Given the description of an element on the screen output the (x, y) to click on. 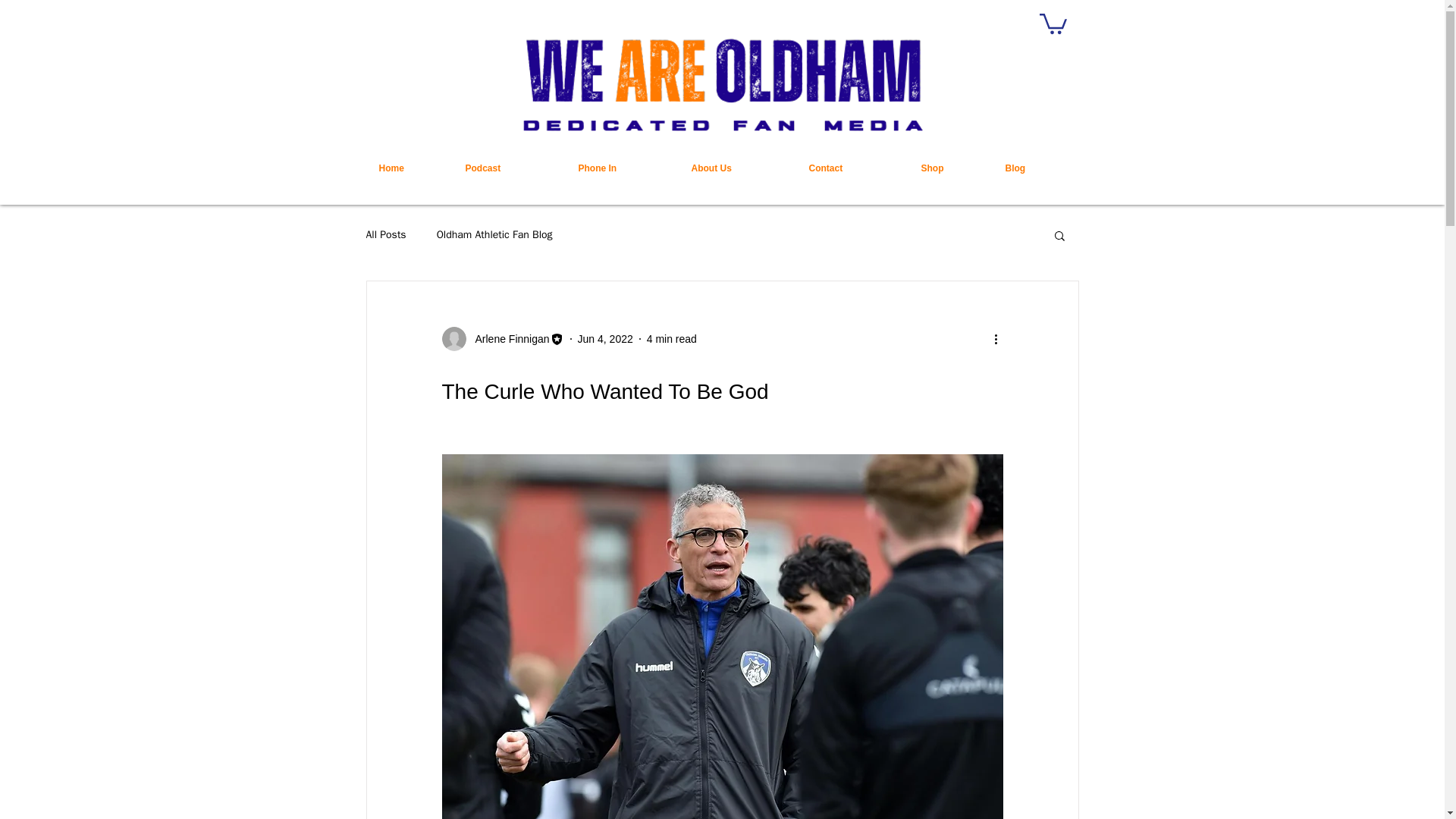
Shop (952, 168)
Oldham Athletic Fan Blog (494, 234)
Arlene Finnigan (502, 338)
Home (409, 168)
Jun 4, 2022 (605, 337)
Contact (853, 168)
Arlene Finnigan (506, 338)
4 min read (671, 337)
About Us (737, 168)
All Posts (385, 234)
